Given the description of an element on the screen output the (x, y) to click on. 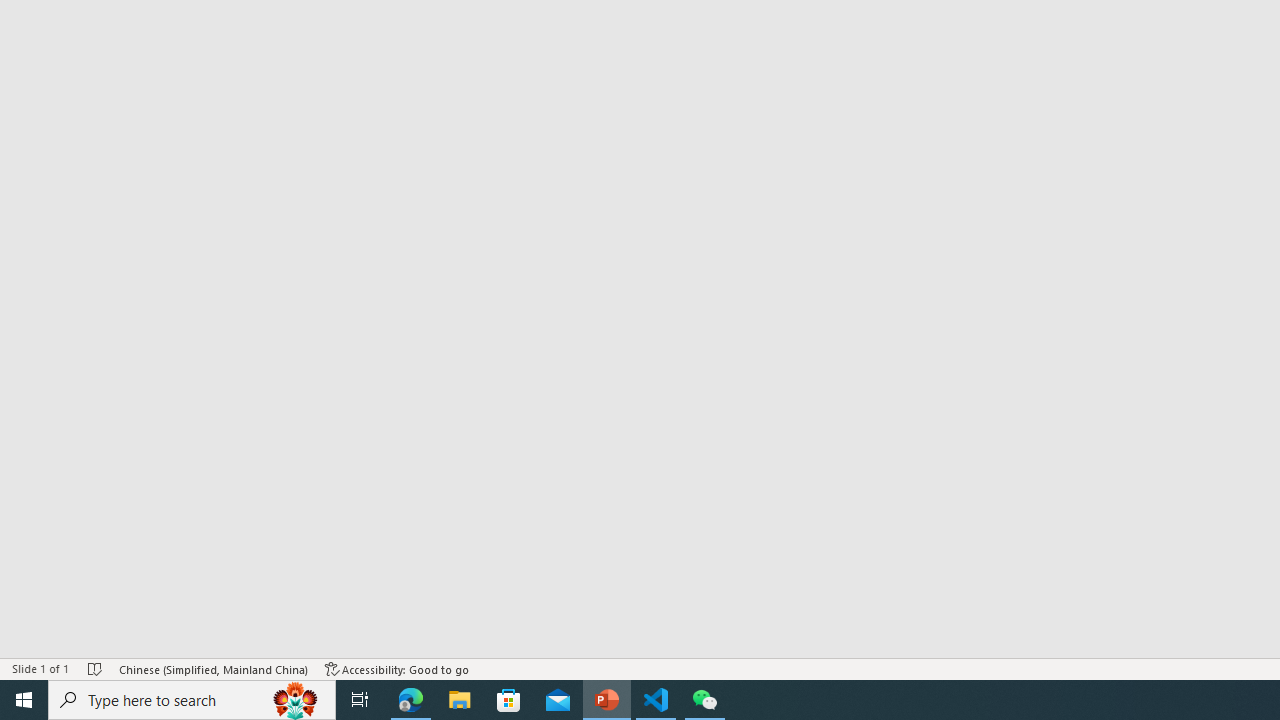
Accessibility Checker Accessibility: Good to go (397, 668)
